Given the description of an element on the screen output the (x, y) to click on. 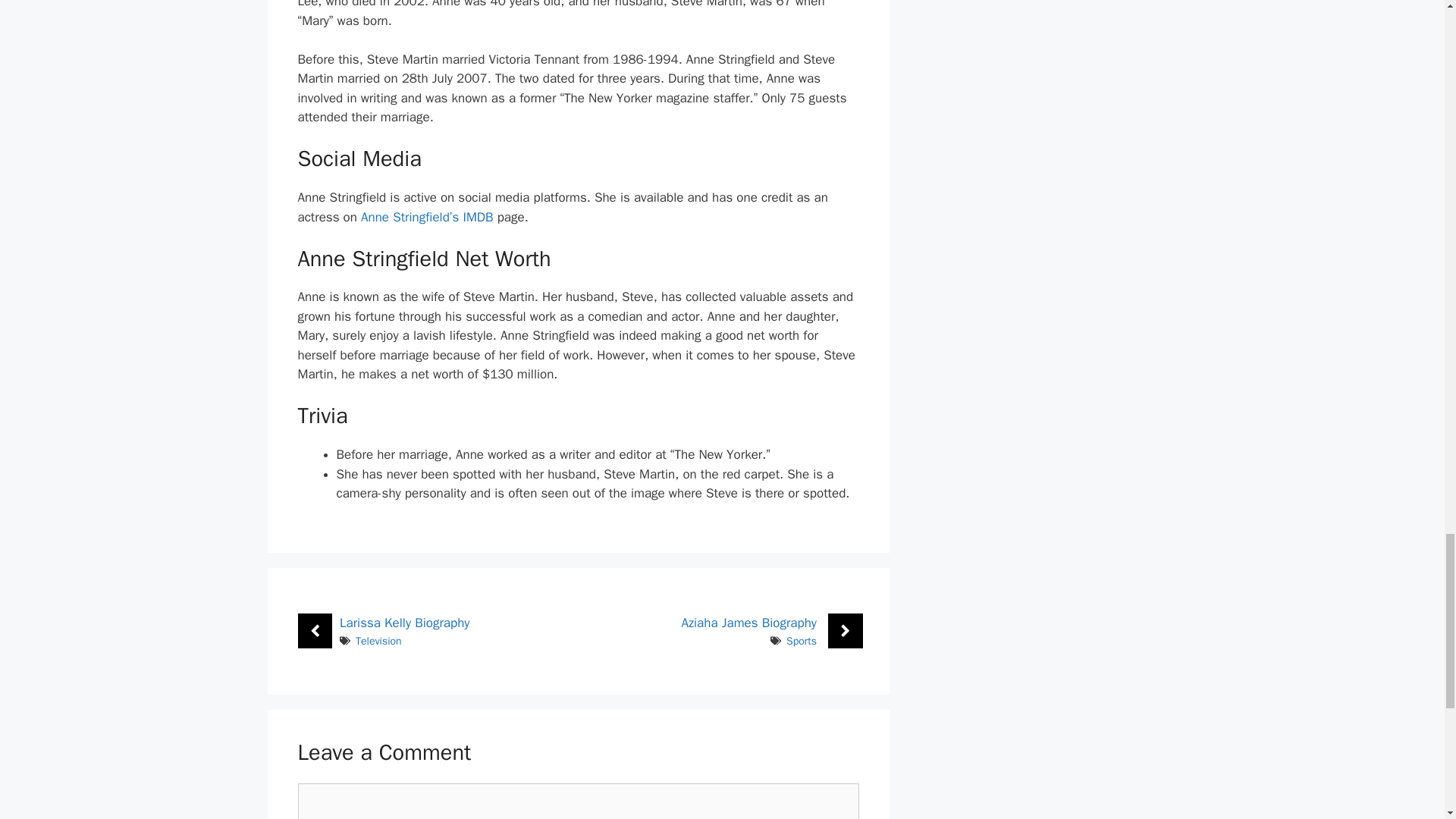
Aziaha James Biography (748, 622)
Sports (801, 640)
Television (378, 640)
Larissa Kelly Biography (403, 622)
